Given the description of an element on the screen output the (x, y) to click on. 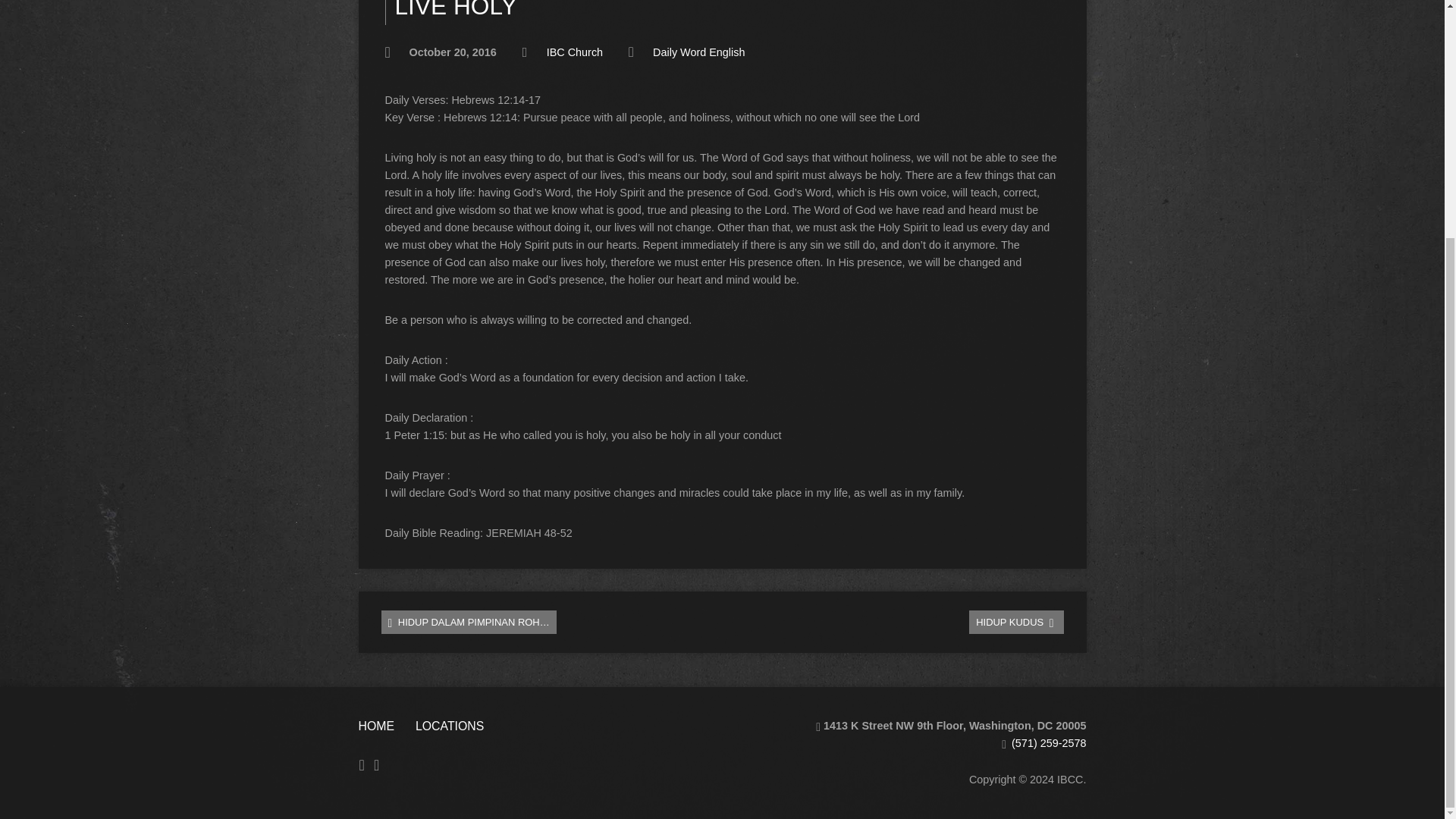
IBC Church (574, 51)
